Given the description of an element on the screen output the (x, y) to click on. 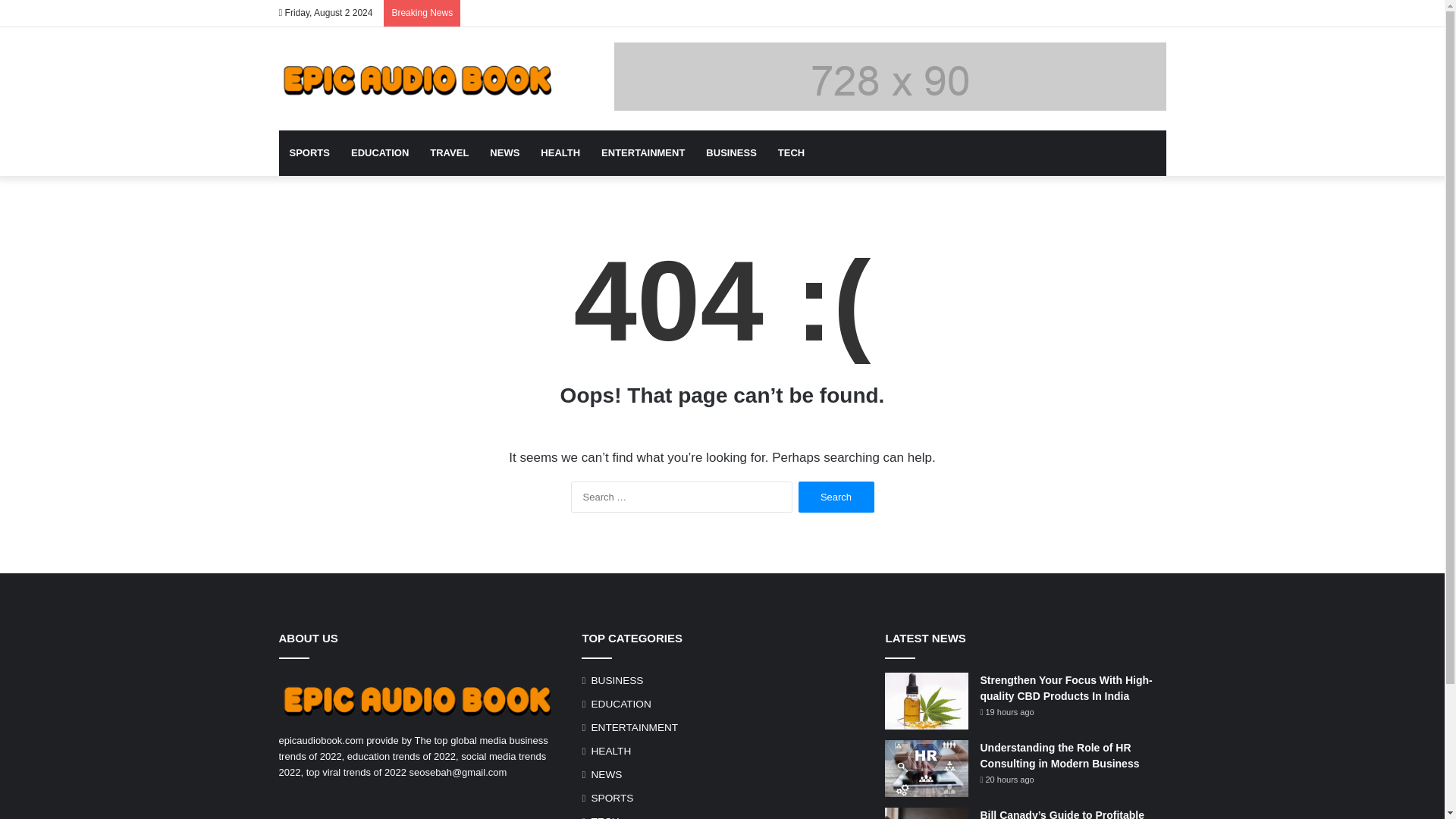
EDUCATION (620, 703)
TECH (604, 816)
Understanding the Role of HR Consulting in Modern Business (1058, 755)
Search (835, 496)
BUSINESS (617, 680)
TECH (791, 153)
HEALTH (560, 153)
Epic Audio Book (419, 78)
SPORTS (612, 797)
